Given the description of an element on the screen output the (x, y) to click on. 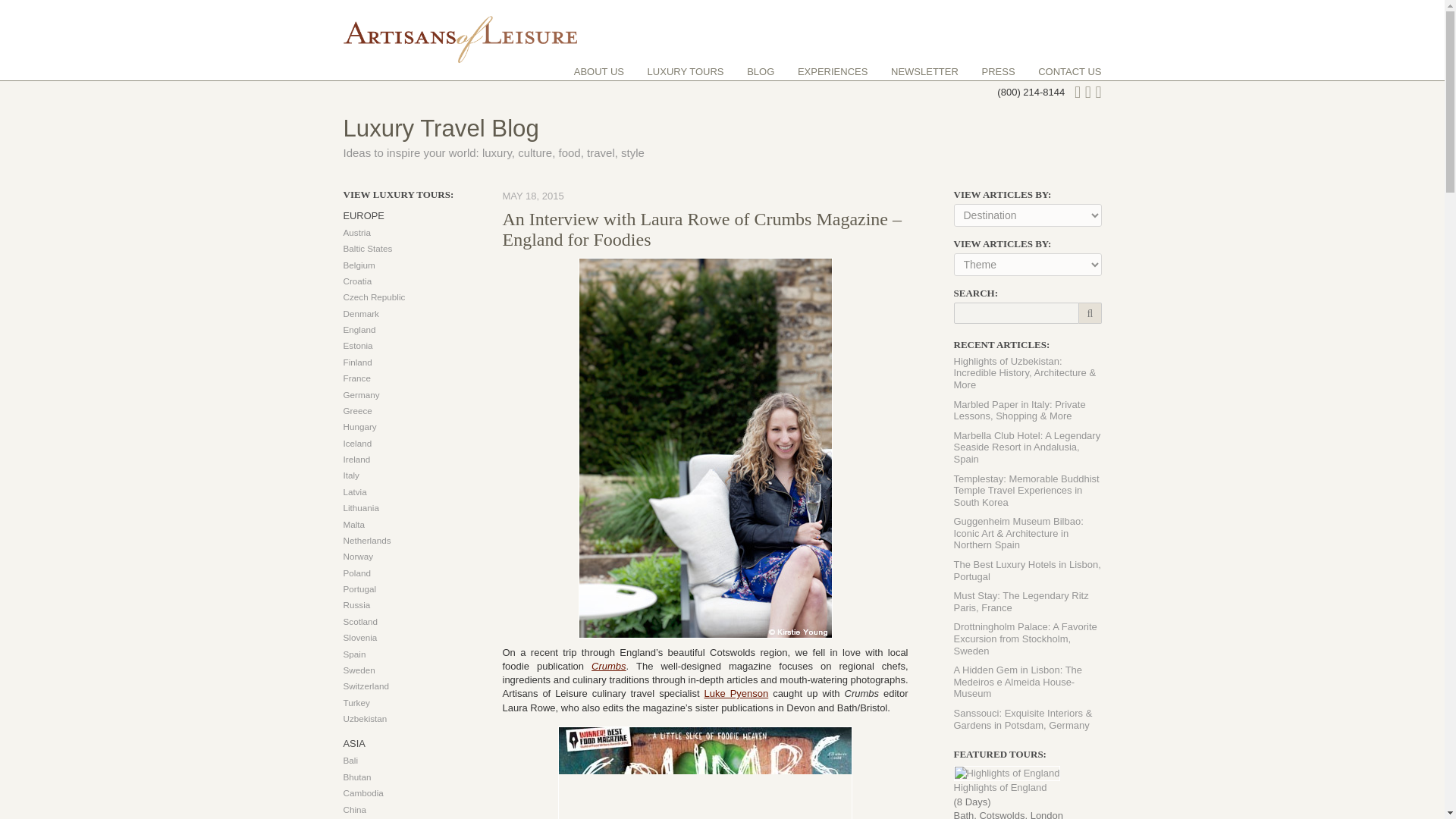
LUXURY TOURS (685, 71)
Highlights of England (1007, 772)
ABOUT US (598, 71)
